Given the description of an element on the screen output the (x, y) to click on. 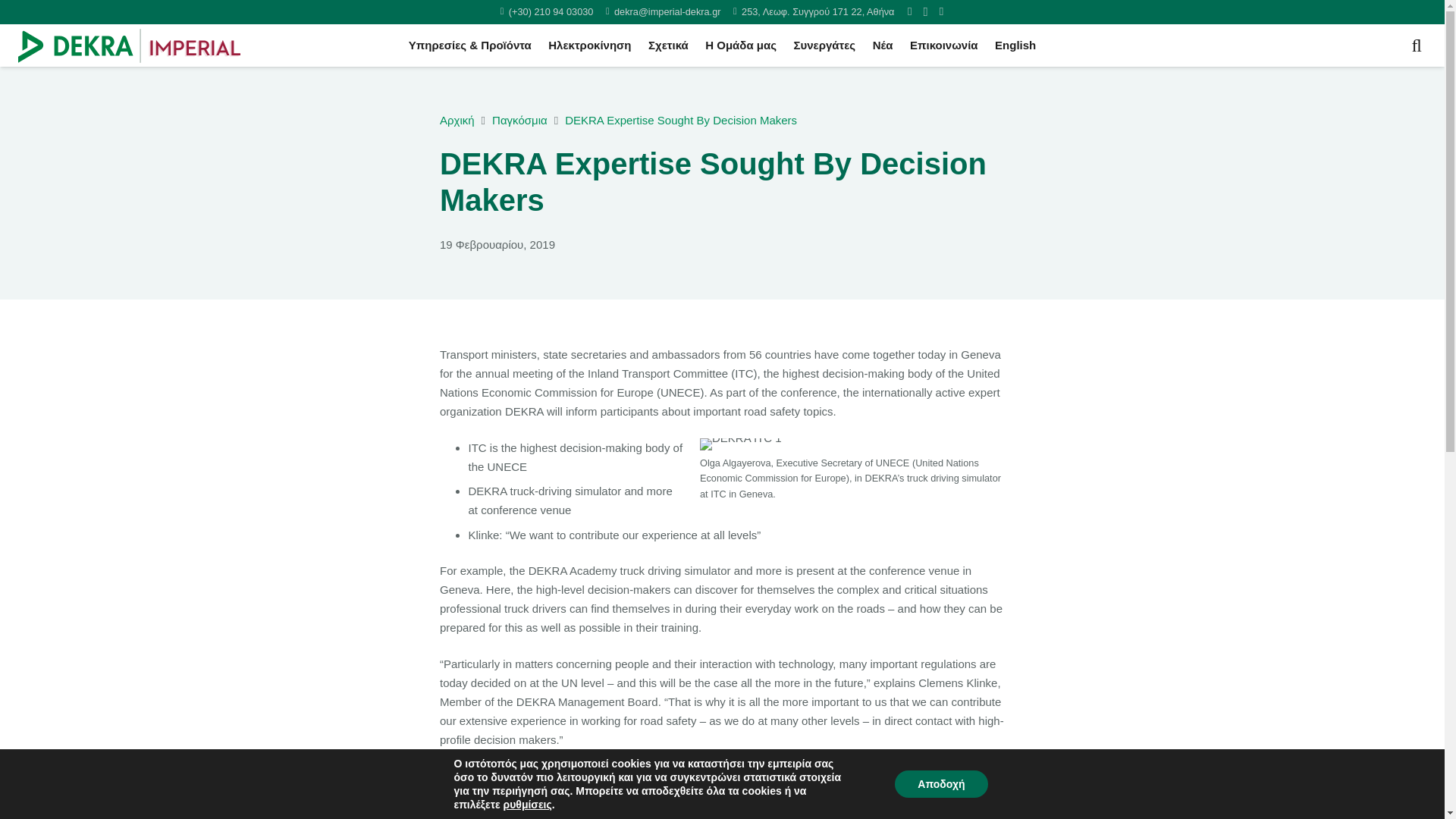
English (1016, 45)
DEKRA Expertise Sought By Decision Makers (680, 119)
DEKRA ITC 1 (740, 444)
